Given the description of an element on the screen output the (x, y) to click on. 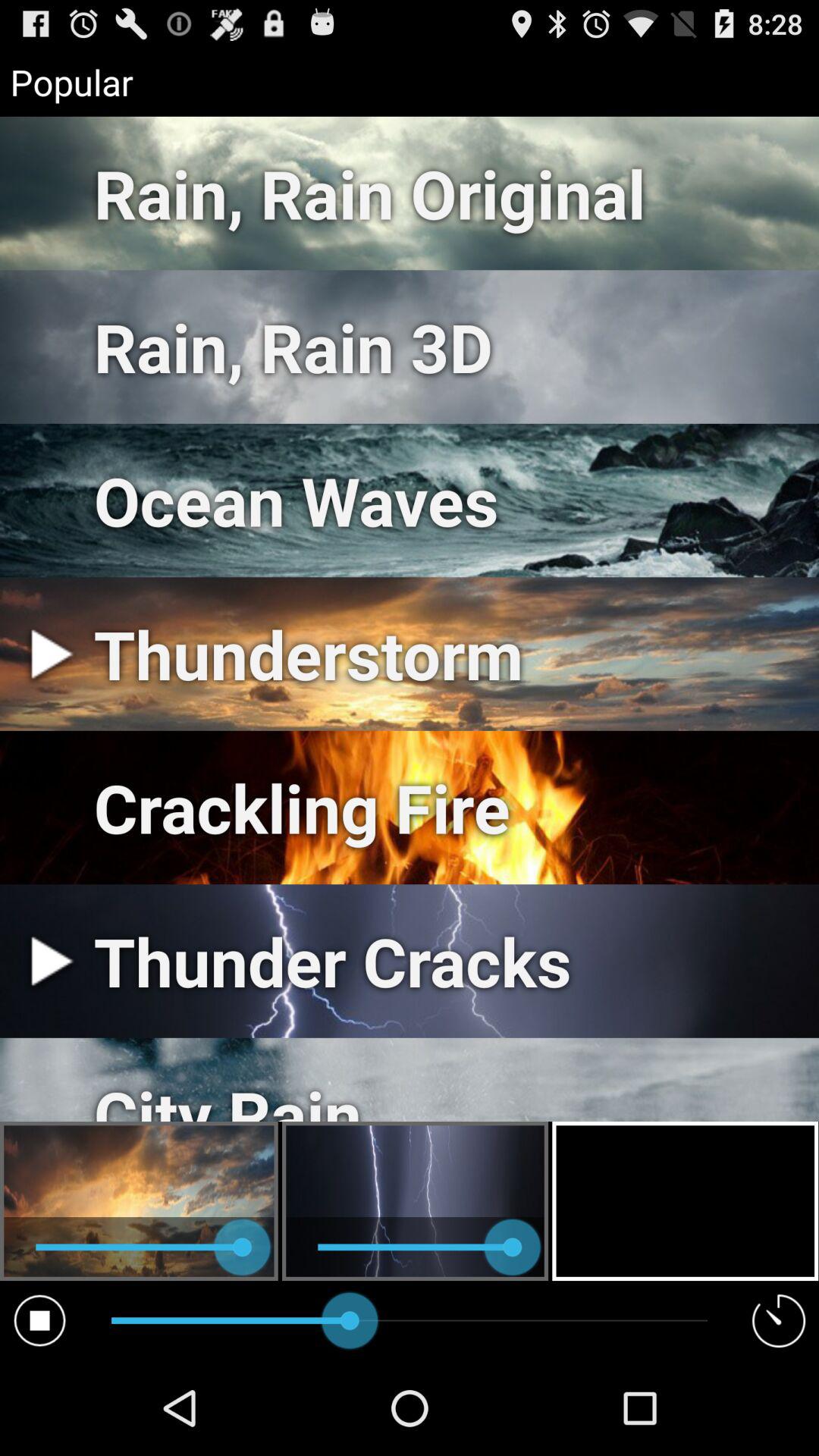
press icon next to rain on a app (39, 1320)
